Given the description of an element on the screen output the (x, y) to click on. 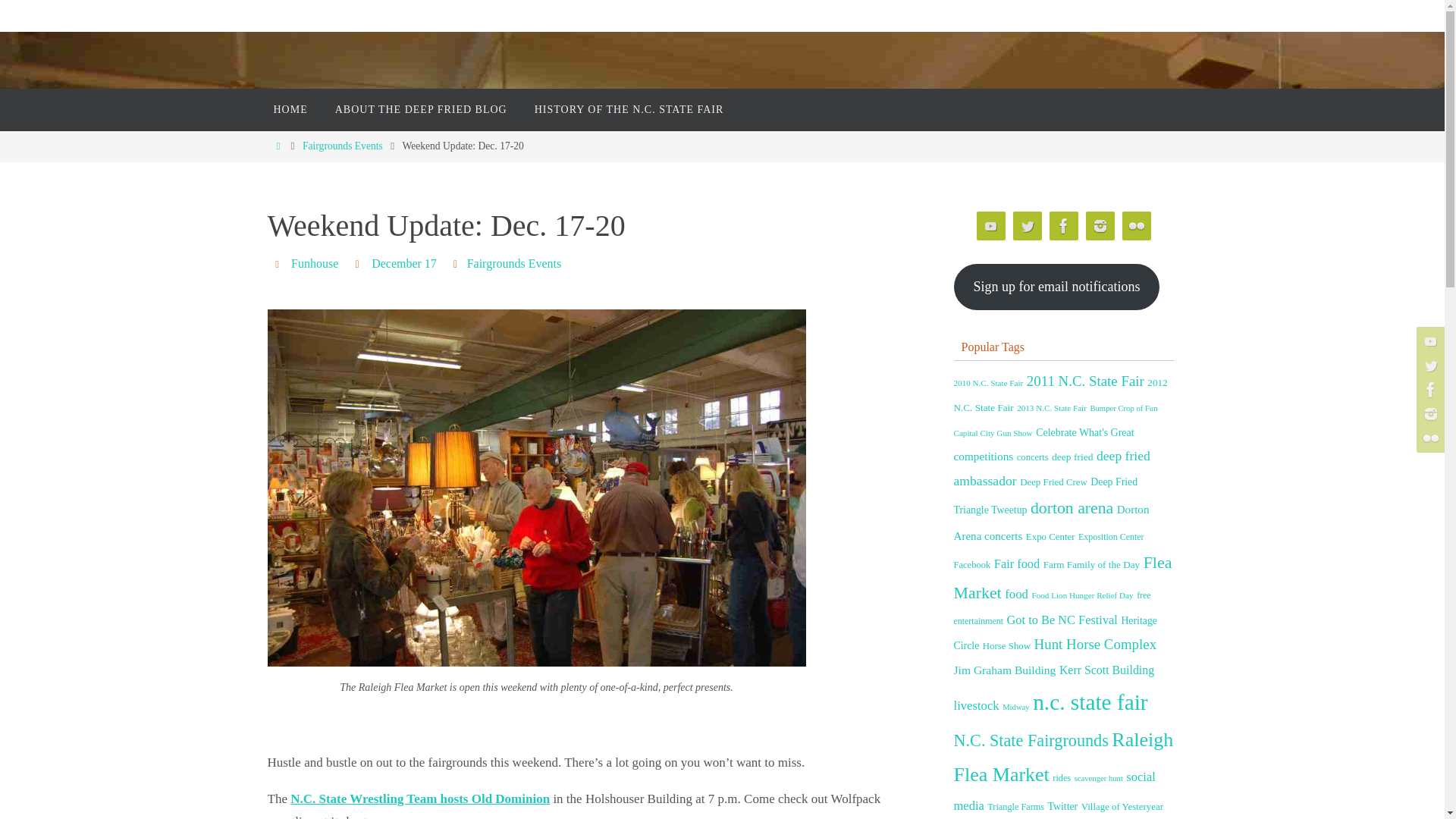
December 17 (403, 264)
HISTORY OF THE N.C. STATE FAIR (629, 109)
HOME (289, 109)
N.C. State Wrestling Team hosts Old Dominion (419, 798)
View all posts by Funhouse (314, 264)
Date (358, 263)
Categories (457, 263)
ABOUT THE DEEP FRIED BLOG (421, 109)
Home (277, 145)
Author  (278, 263)
Fairgrounds Events (342, 145)
Fairgrounds Events (514, 264)
Funhouse (314, 264)
